Given the description of an element on the screen output the (x, y) to click on. 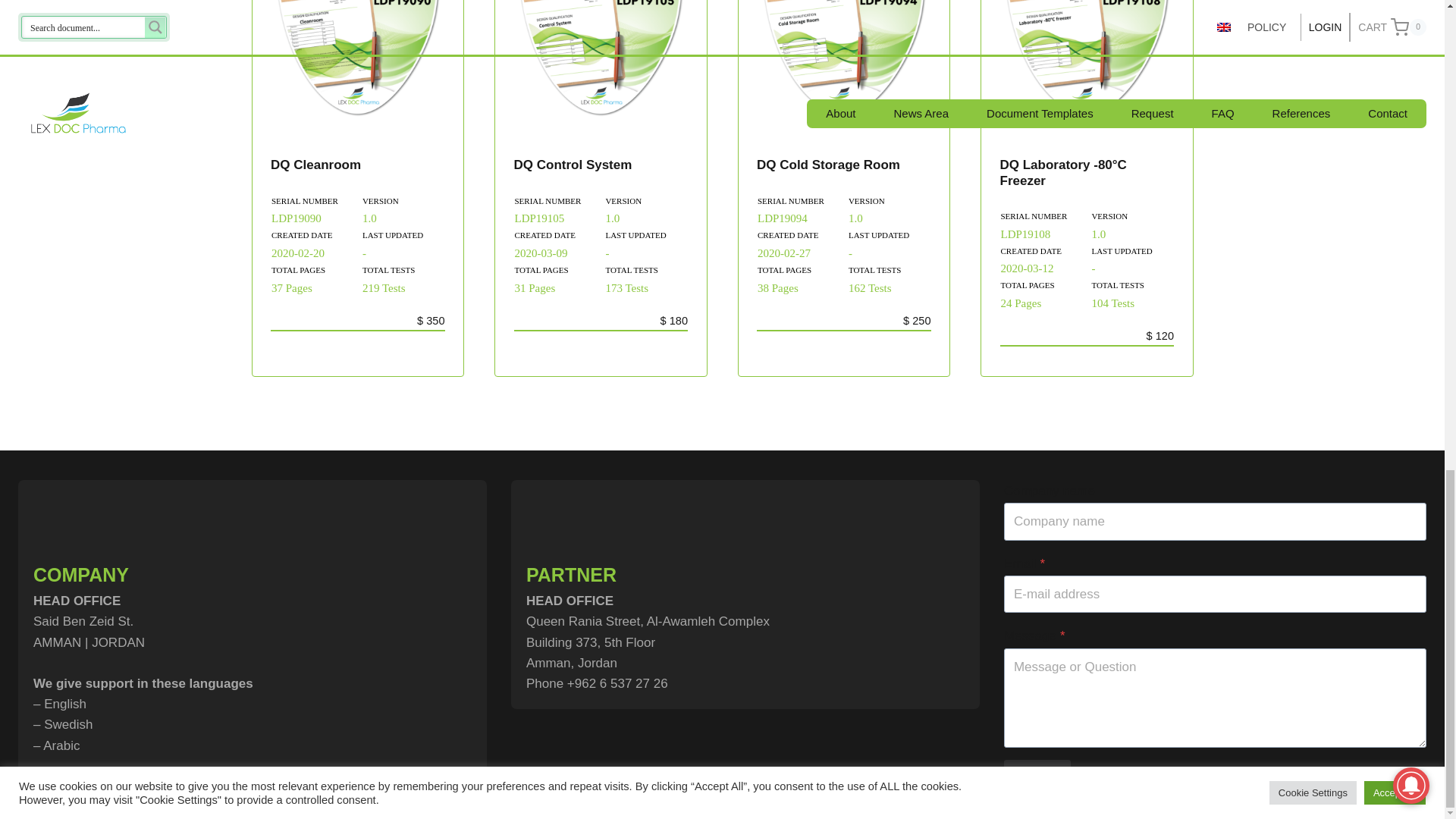
DQ Cold Storage Room (828, 164)
DQ Cleanroom (315, 164)
DQ Control System (572, 164)
